Given the description of an element on the screen output the (x, y) to click on. 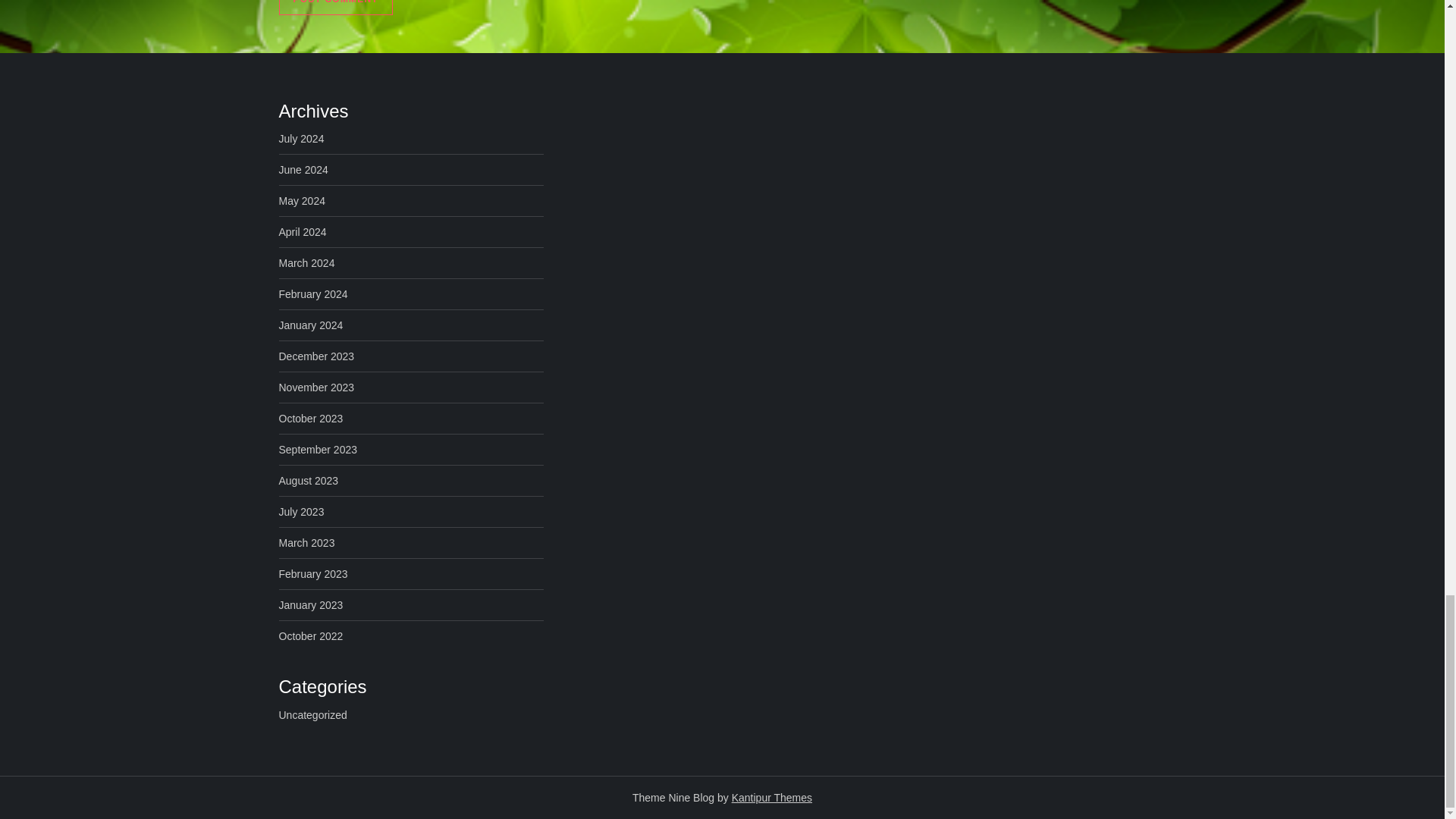
March 2024 (306, 262)
May 2024 (301, 200)
July 2024 (301, 138)
April 2024 (302, 231)
June 2024 (304, 169)
Post Comment (336, 7)
Post Comment (336, 7)
